Given the description of an element on the screen output the (x, y) to click on. 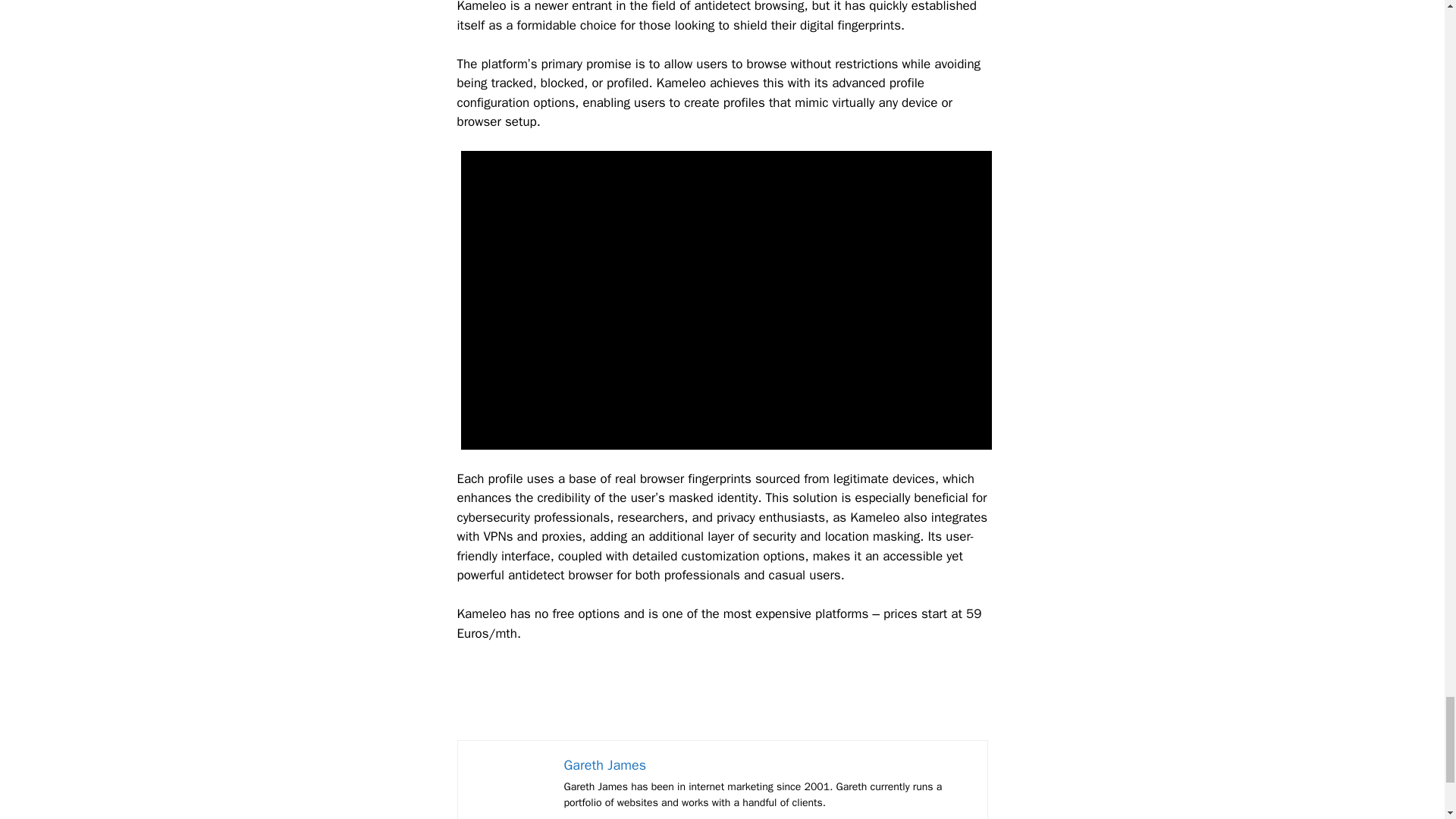
Gareth James (605, 764)
